Given the description of an element on the screen output the (x, y) to click on. 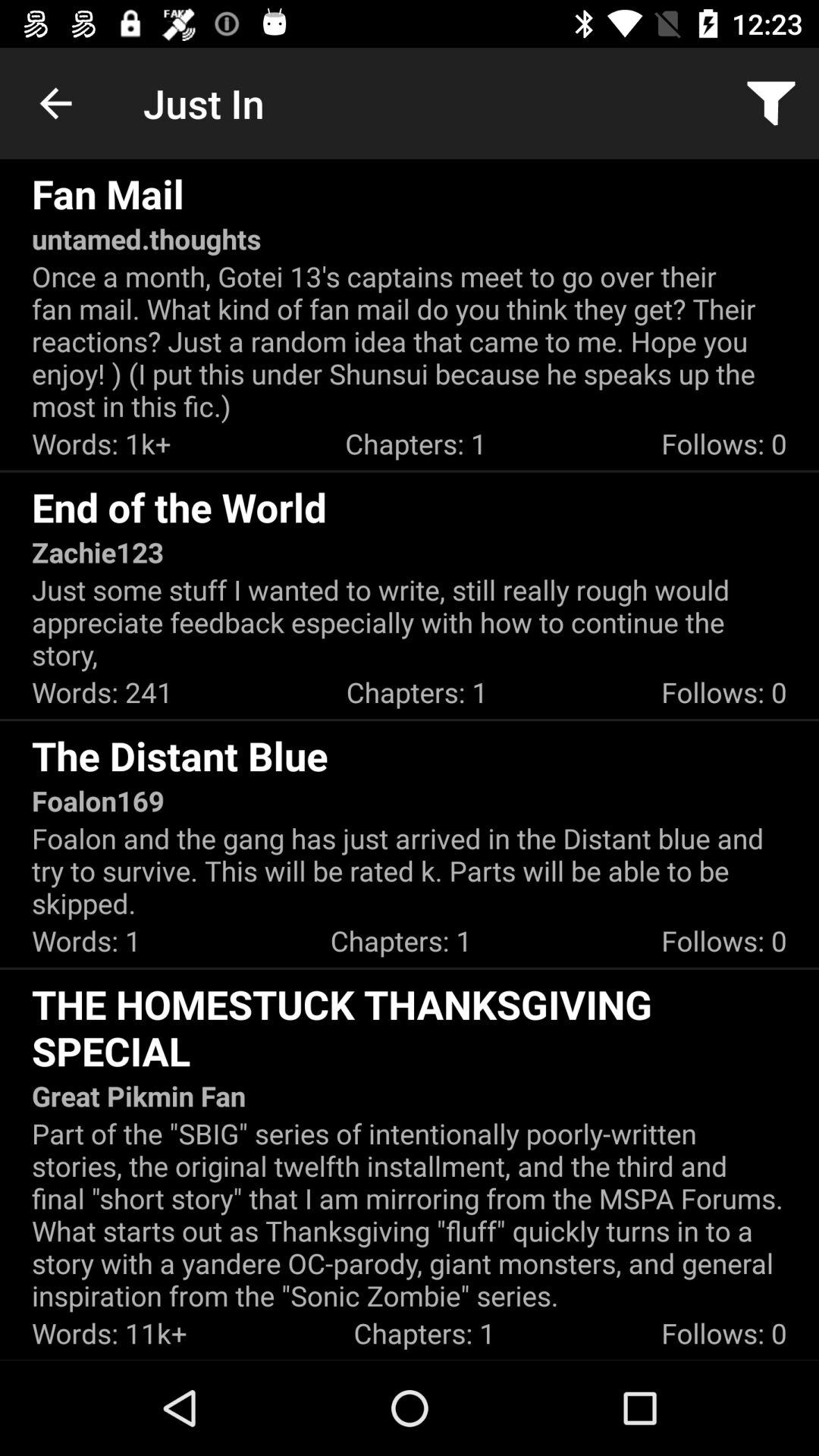
turn on the item below the foalon169 icon (409, 870)
